Given the description of an element on the screen output the (x, y) to click on. 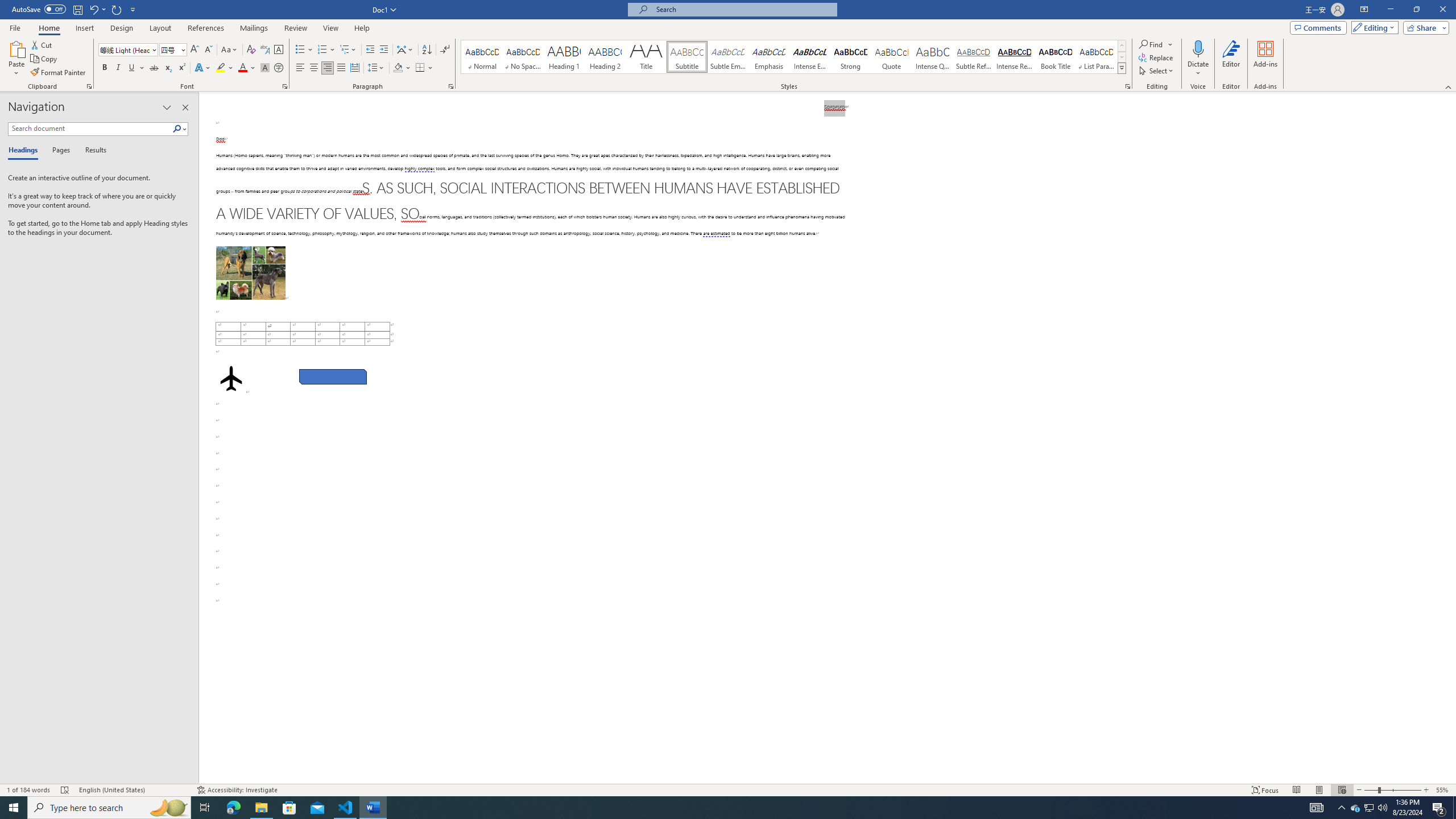
Quote (891, 56)
Help (361, 28)
Bold (104, 67)
Strikethrough (154, 67)
Intense Quote (932, 56)
Phonetic Guide... (264, 49)
Enclose Characters... (278, 67)
Find (1155, 44)
Restore Down (1416, 9)
Subtle Emphasis (727, 56)
Language English (United States) (132, 790)
Open (182, 49)
Replace... (1156, 56)
Class: NetUIImage (1121, 68)
Close (1442, 9)
